Given the description of an element on the screen output the (x, y) to click on. 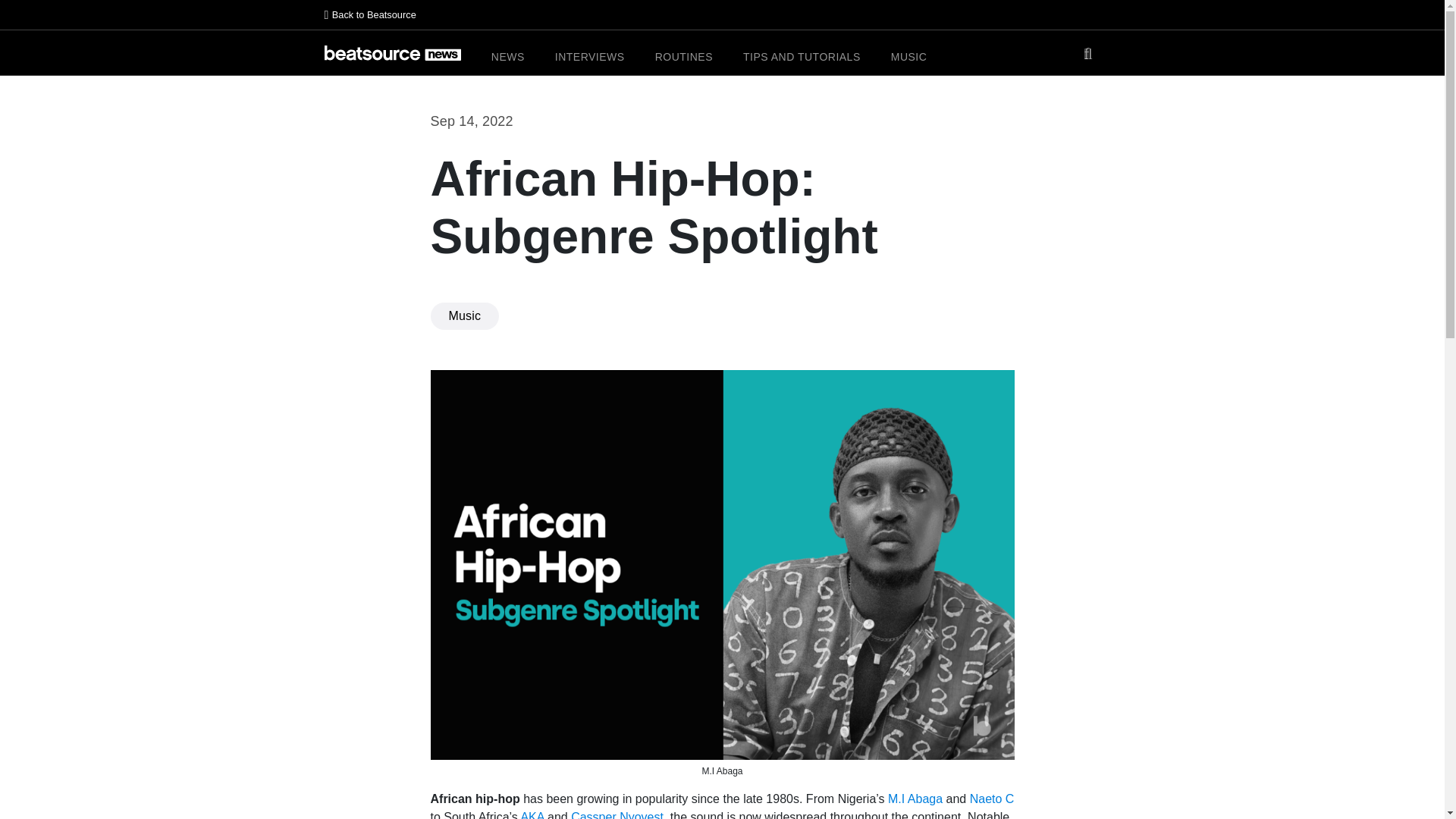
Music (464, 316)
INTERVIEWS (589, 56)
Cassper Nyovest (616, 814)
MUSIC (909, 56)
 Back to Beatsource (722, 14)
ROUTINES (684, 56)
Sep 14, 2022 (471, 120)
M.I Abaga (915, 798)
TIPS AND TUTORIALS (801, 56)
